Given the description of an element on the screen output the (x, y) to click on. 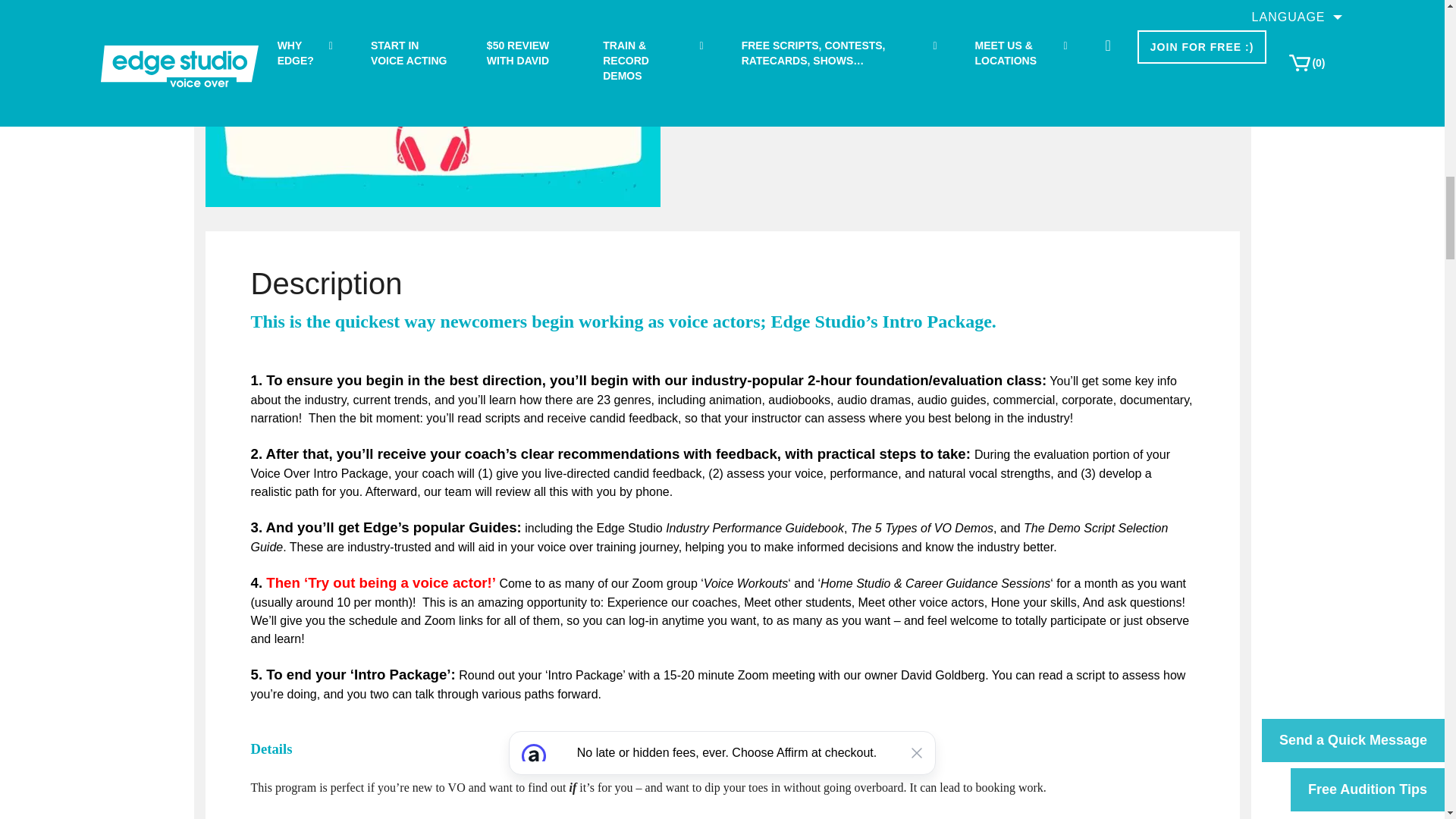
306B652C-6037-441E-9606-20F954D996B4 (432, 103)
